Given the description of an element on the screen output the (x, y) to click on. 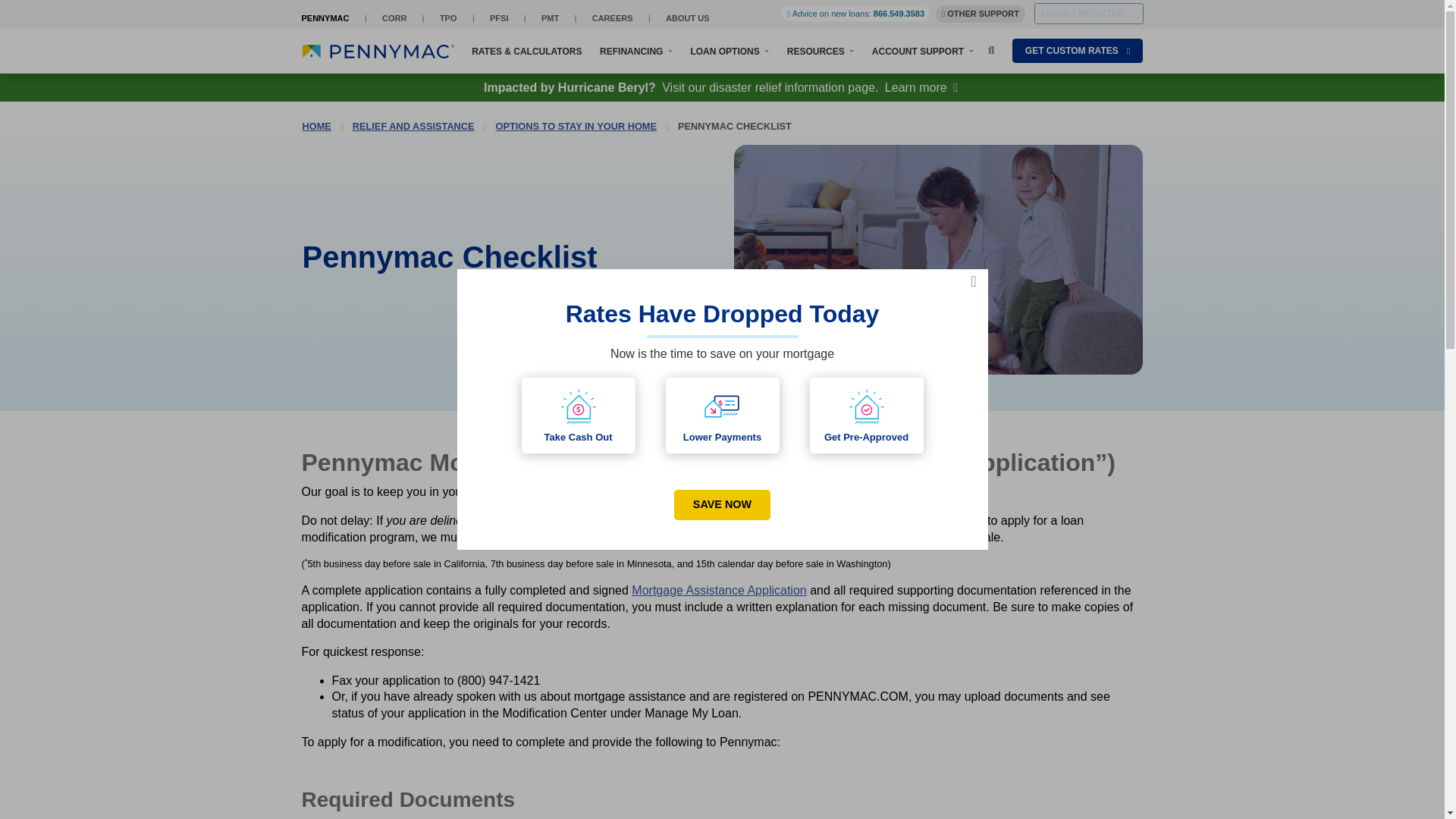
LOAN OPTIONS (729, 54)
ACCOUNT SUPPORT (923, 54)
RESOURCES (820, 54)
REFINANCING (635, 54)
Advice on new loans: 866.549.3583 (855, 13)
CAREERS (612, 17)
TPO (448, 17)
Login (1087, 13)
ABOUT US (687, 17)
PMT (550, 17)
OTHER SUPPORT (980, 13)
CORR (393, 17)
PFSI (498, 17)
